Given the description of an element on the screen output the (x, y) to click on. 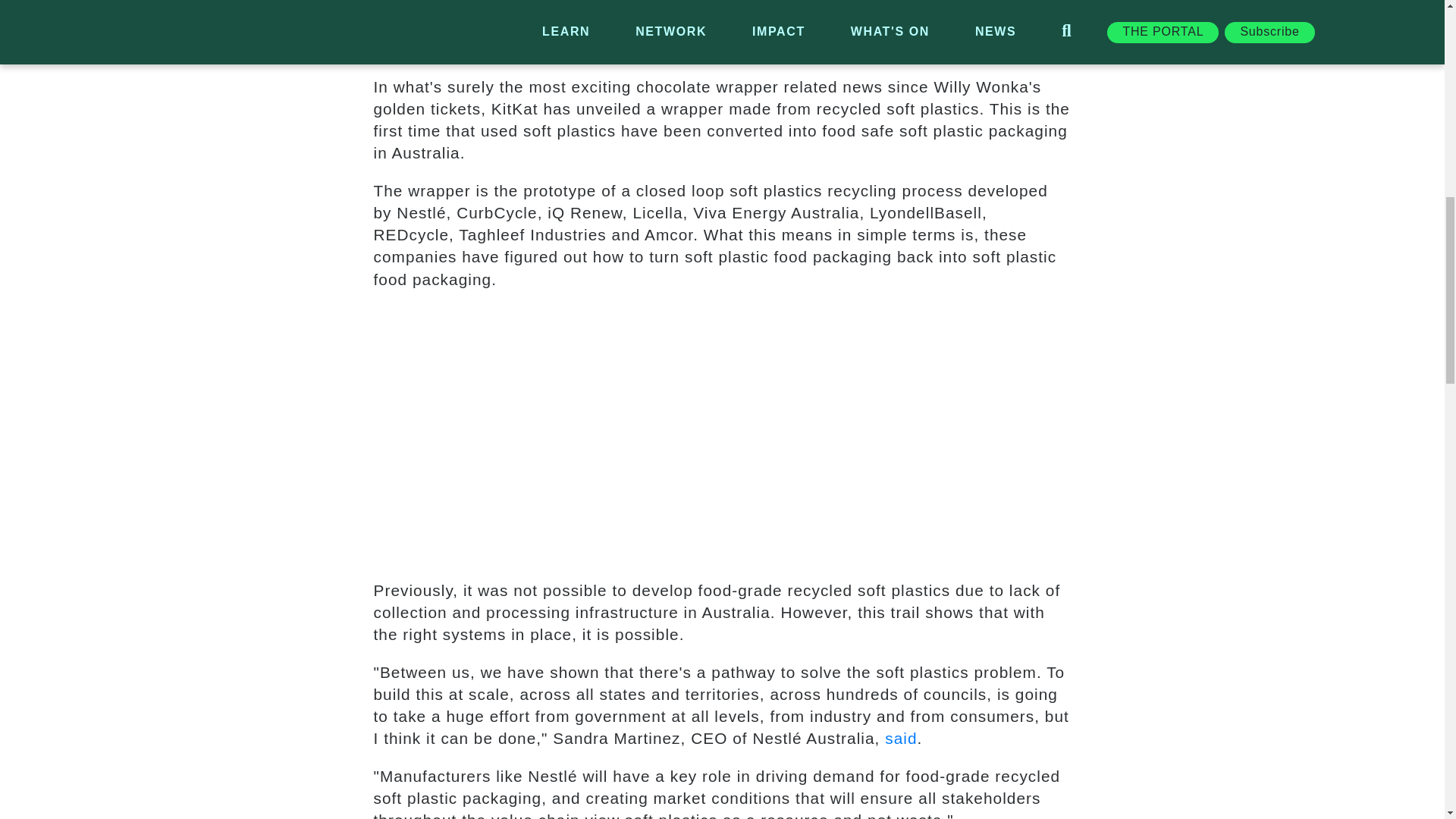
said (901, 737)
